Given the description of an element on the screen output the (x, y) to click on. 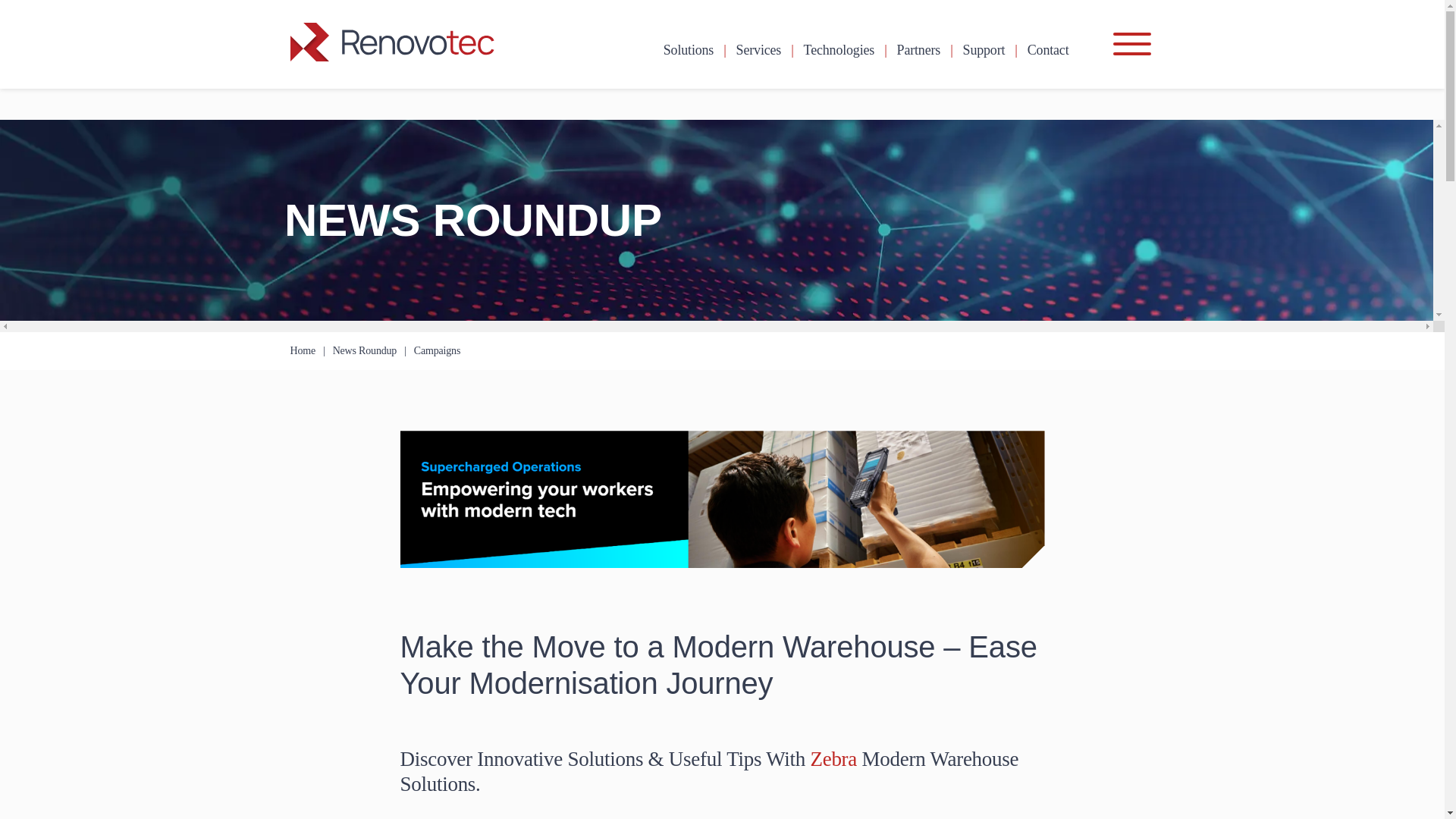
Contact (1047, 49)
Solutions (688, 49)
Support (984, 49)
Partners (918, 49)
Services (758, 49)
Read more (990, 7)
Reject all (27, 23)
Technologies (839, 49)
Allow cookies (95, 23)
